Given the description of an element on the screen output the (x, y) to click on. 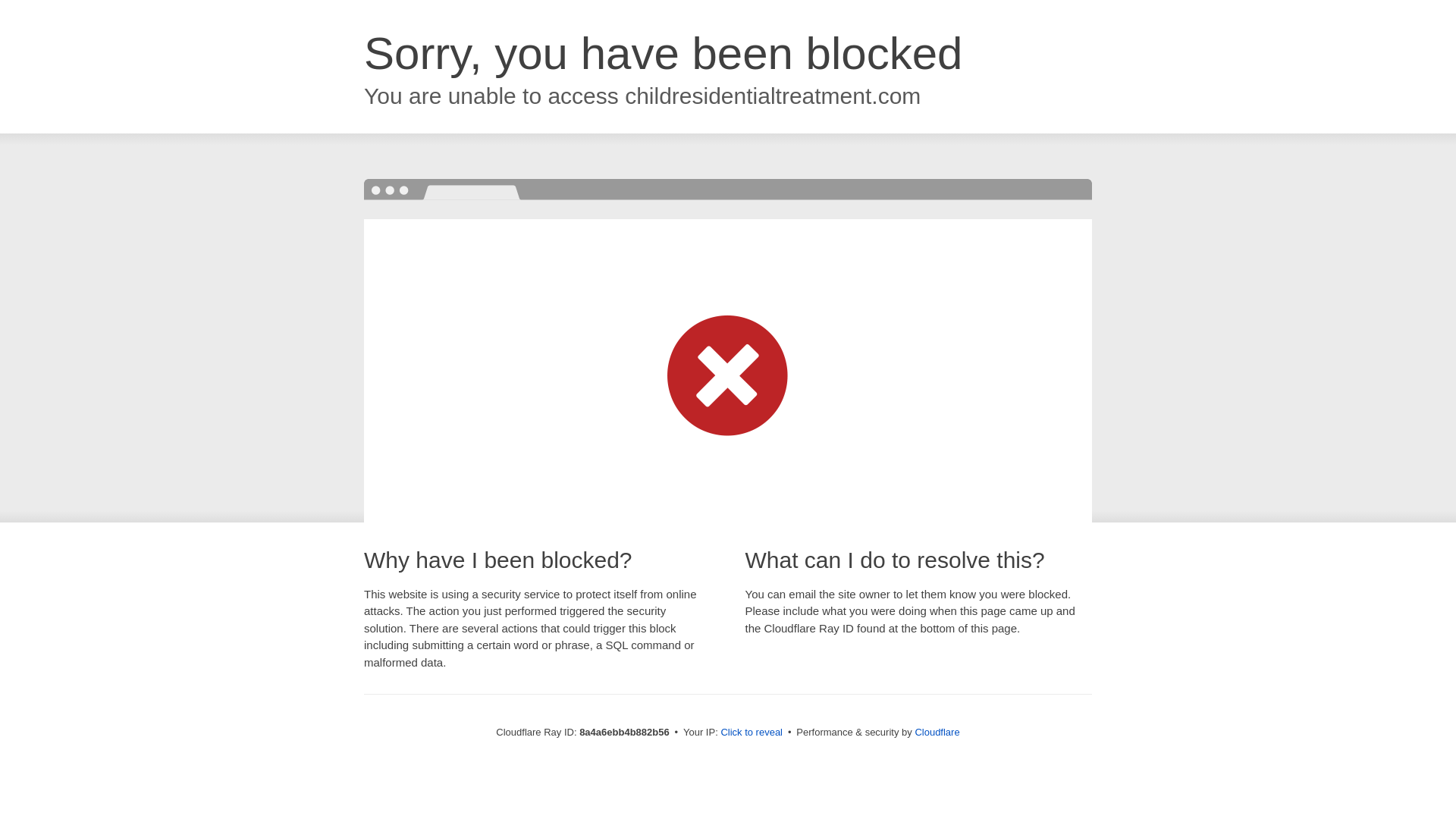
Cloudflare (936, 731)
Click to reveal (751, 732)
